Given the description of an element on the screen output the (x, y) to click on. 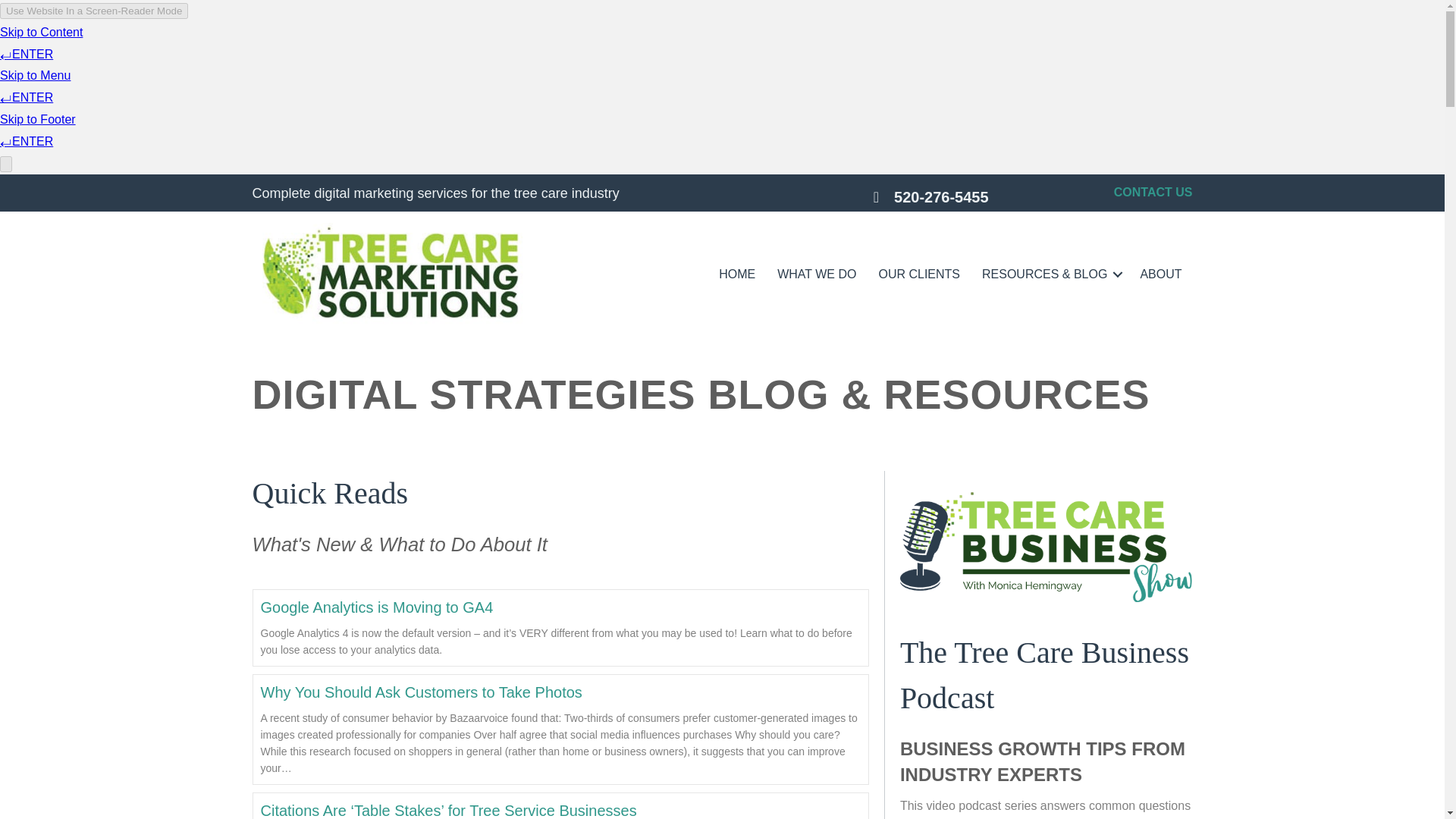
Tree-Care-Logo-vMAH-450X164 (392, 273)
HOME (736, 274)
ABOUT (1160, 274)
OUR CLIENTS (919, 274)
Why You Should Ask Customers to Take Photos (421, 692)
Google Analytics is Moving to GA4 (376, 606)
WHAT WE DO (816, 274)
520-276-5455 (955, 196)
Why You Should Ask Customers to Take Photos (421, 692)
Google Analytics is Moving to GA4 (376, 606)
